Given the description of an element on the screen output the (x, y) to click on. 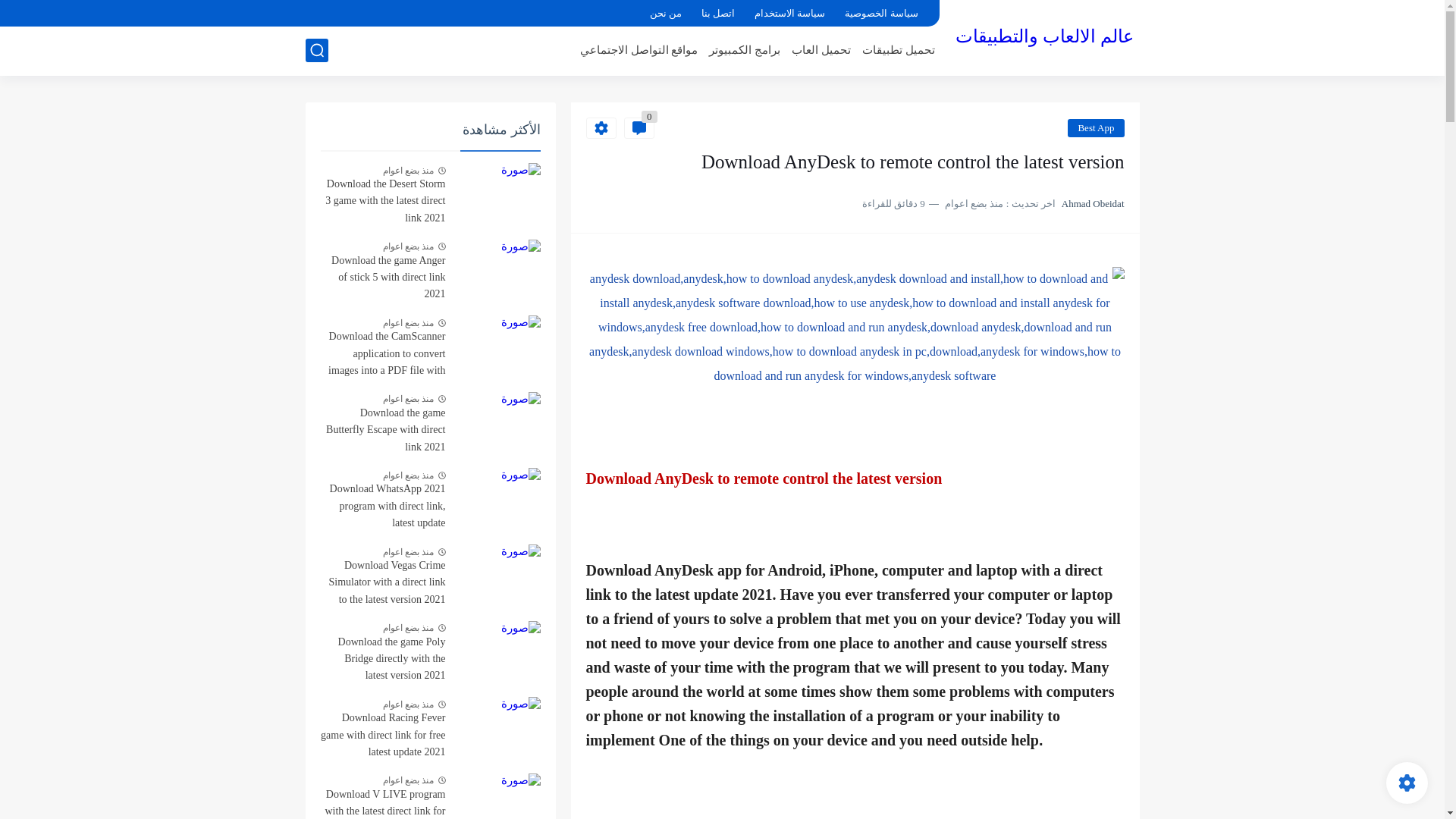
Best App (1095, 127)
0 (638, 127)
Download AnyDesk to remote control the latest version (854, 327)
Best App (1095, 127)
